Given the description of an element on the screen output the (x, y) to click on. 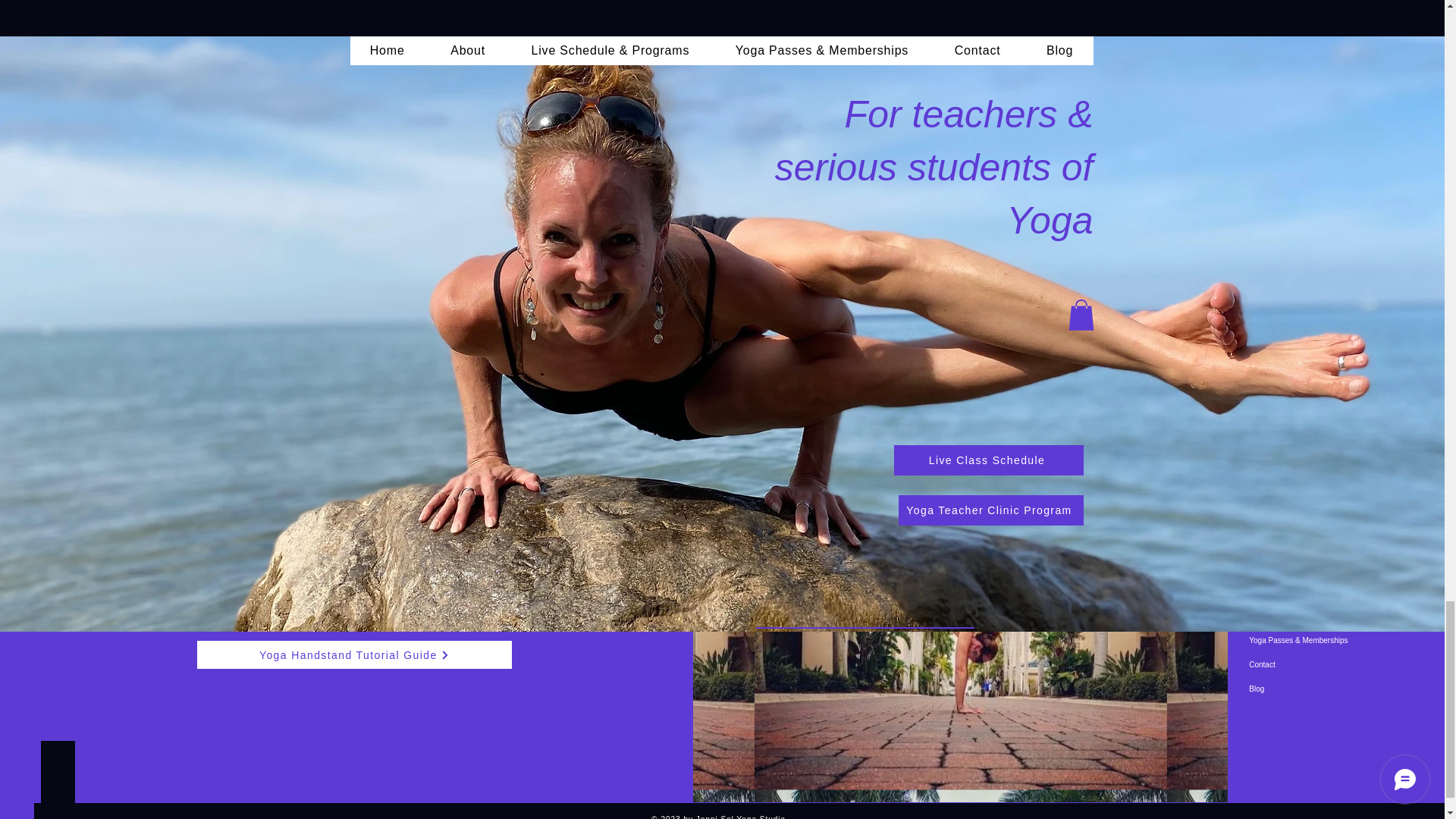
About (1287, 591)
Blog (1287, 689)
Yoga Handstand Tutorial Guide (354, 654)
Contact (1287, 664)
Mailchimp contact form (354, 439)
Home (1287, 567)
